Given the description of an element on the screen output the (x, y) to click on. 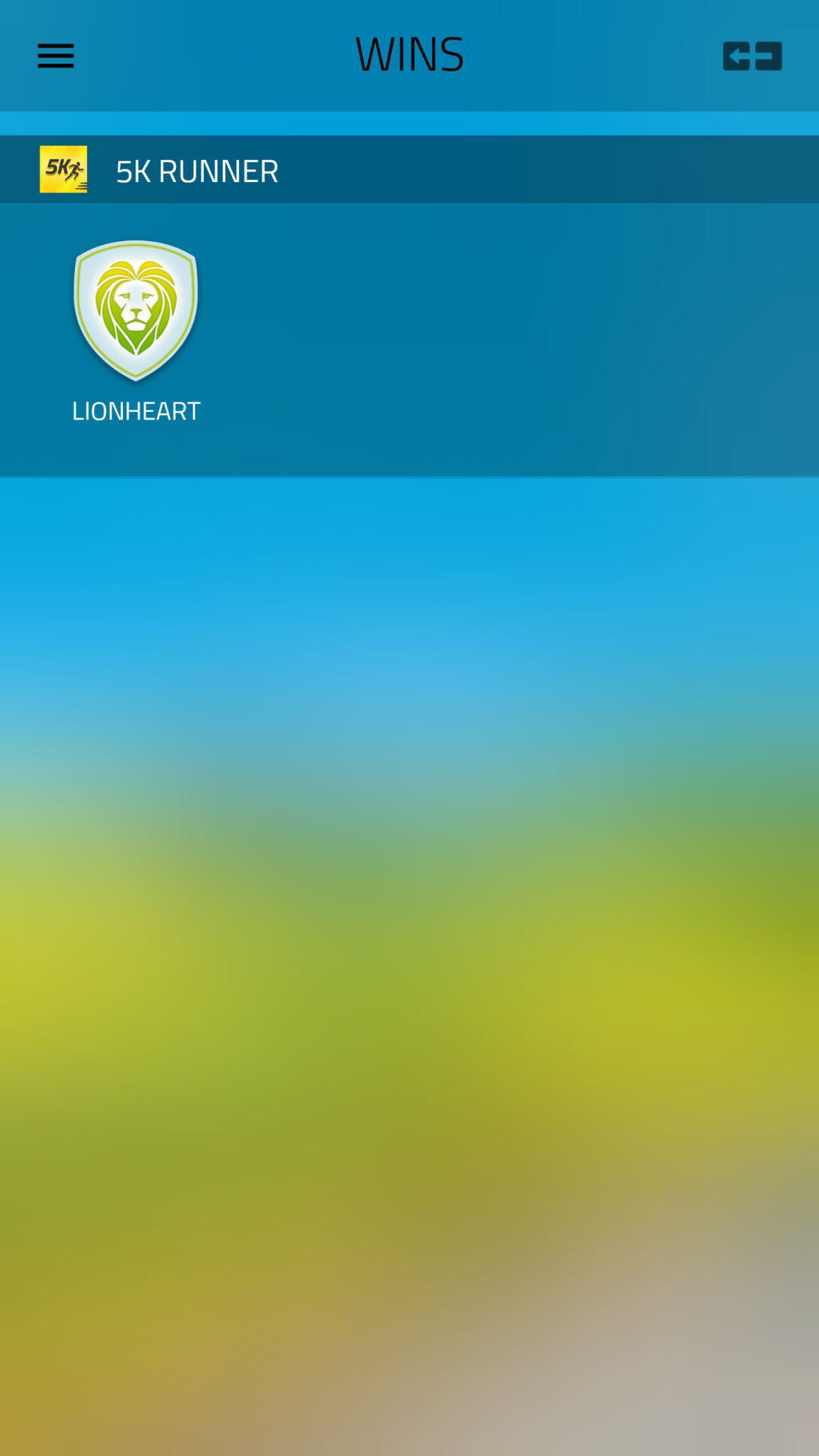
tap the icon to the right of wins icon (752, 55)
